Given the description of an element on the screen output the (x, y) to click on. 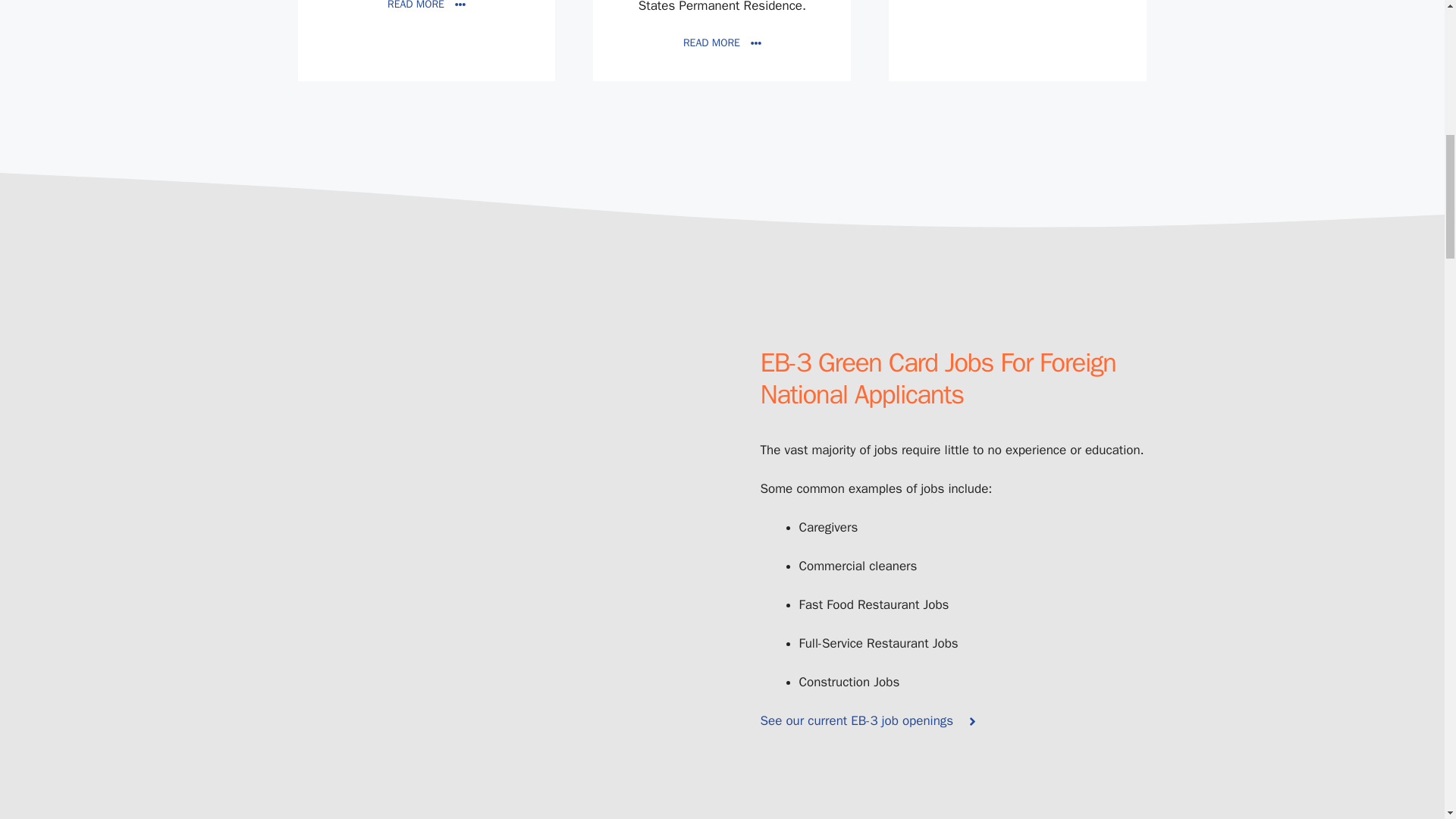
READ MORE (721, 42)
See our current EB-3 job openings (869, 721)
READ MORE (426, 6)
